Given the description of an element on the screen output the (x, y) to click on. 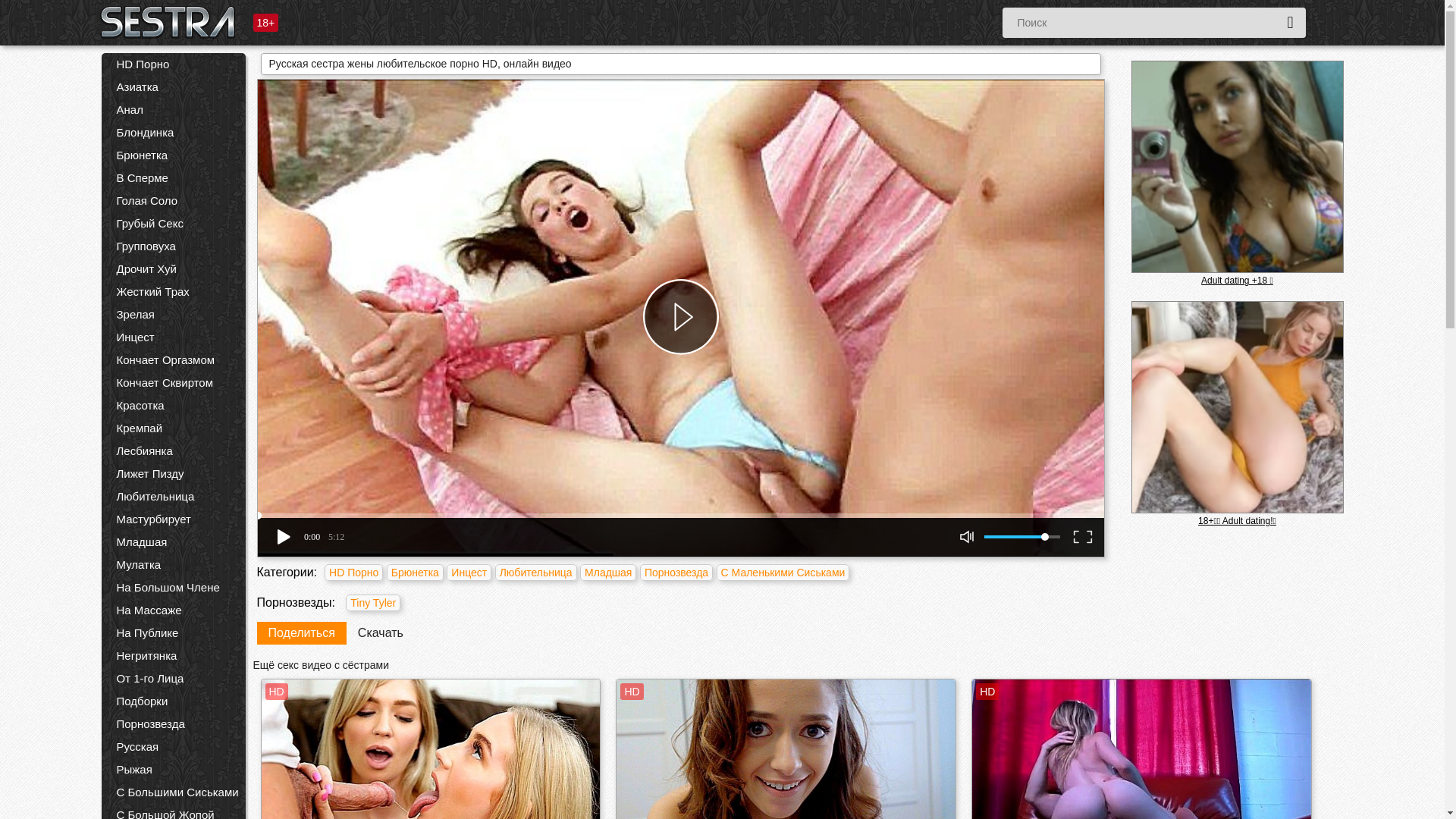
Tiny Tyler Element type: text (372, 602)
